Given the description of an element on the screen output the (x, y) to click on. 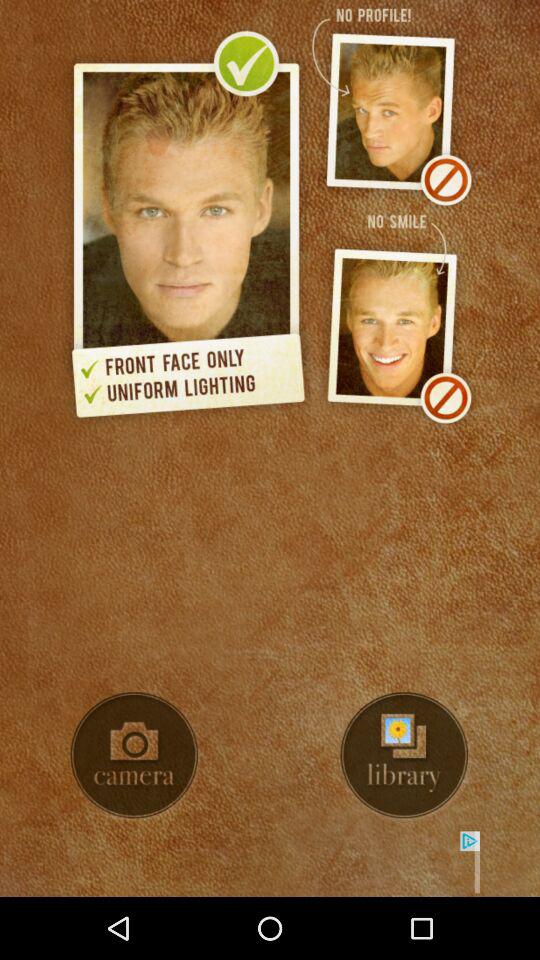
open the button at the bottom left corner (134, 754)
